Given the description of an element on the screen output the (x, y) to click on. 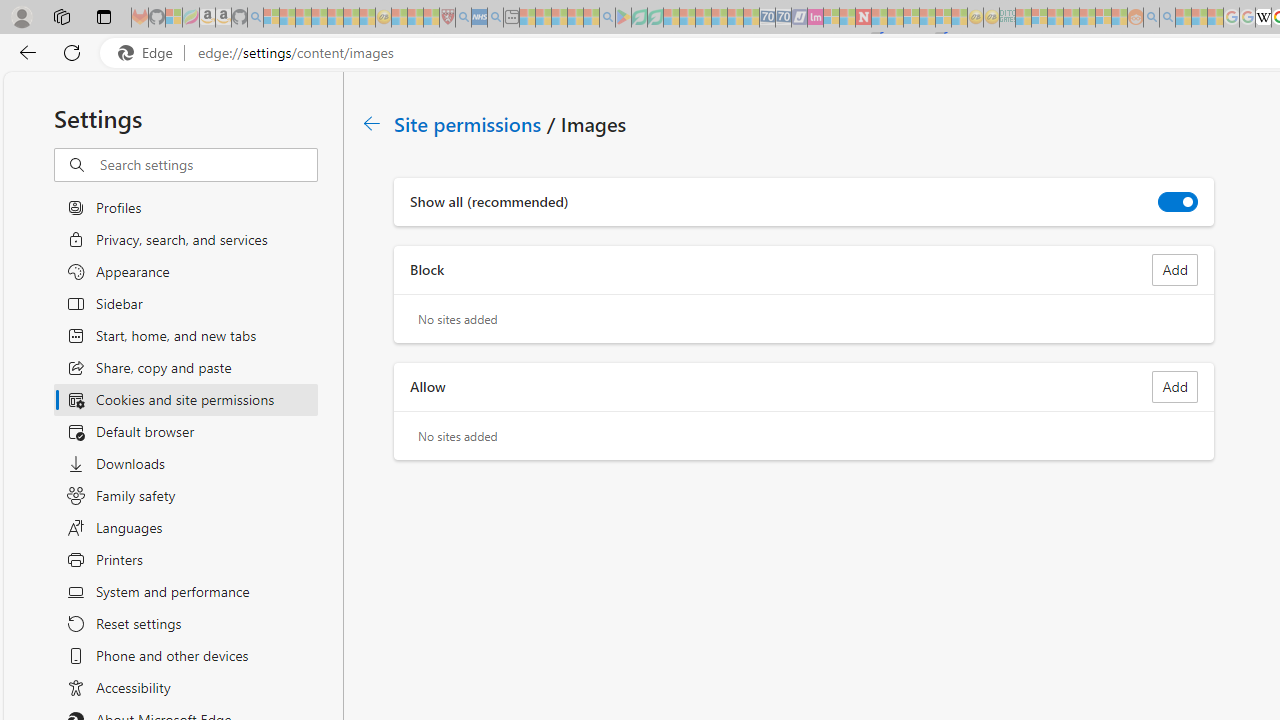
Add site to Allow list (1175, 386)
